Given the description of an element on the screen output the (x, y) to click on. 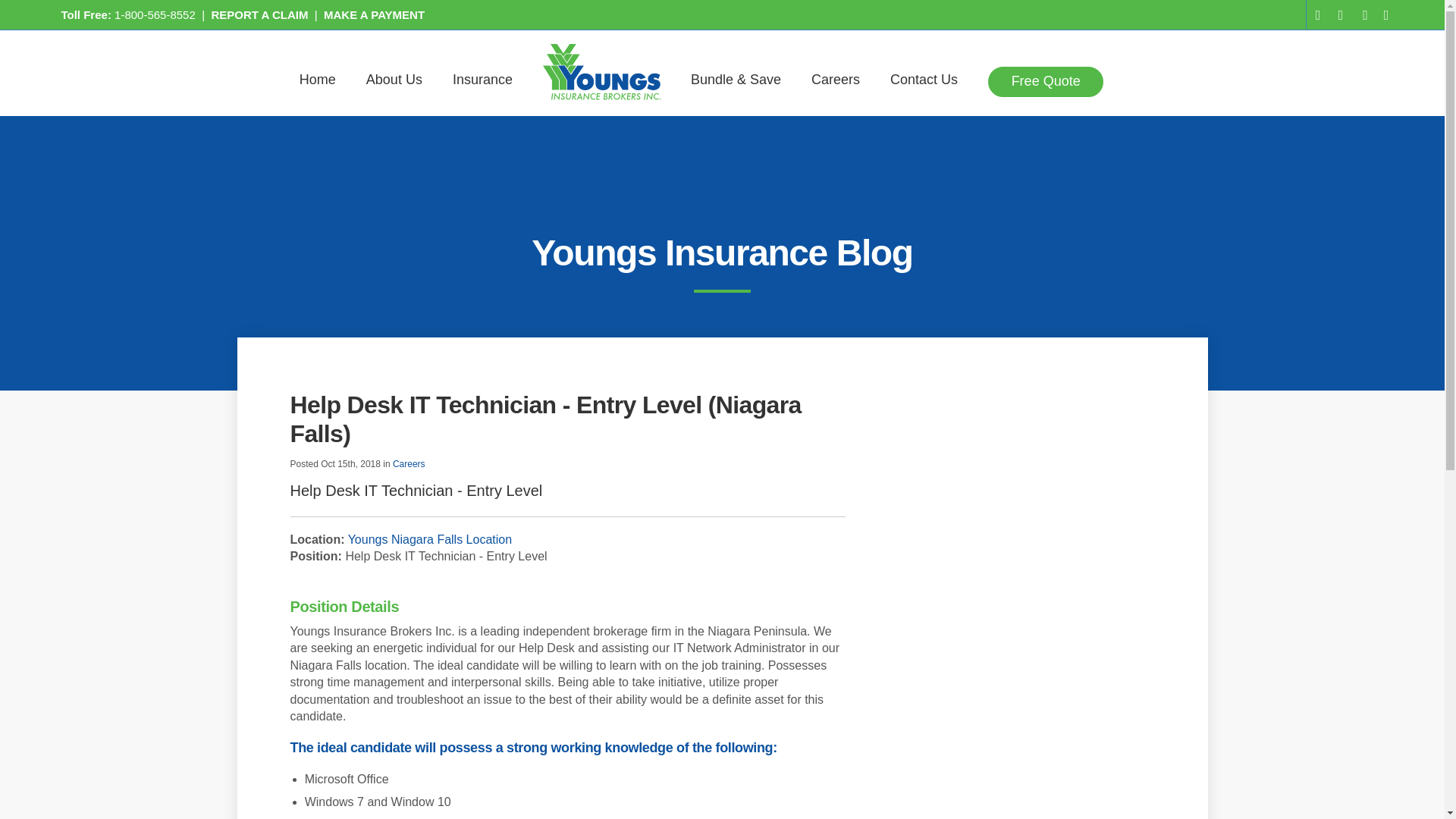
Insurance (482, 81)
MAKE A PAYMENT (374, 14)
Home (317, 81)
REPORT A CLAIM (259, 14)
Careers (835, 81)
About Us (394, 81)
1-800-565-8552 (155, 14)
